Given the description of an element on the screen output the (x, y) to click on. 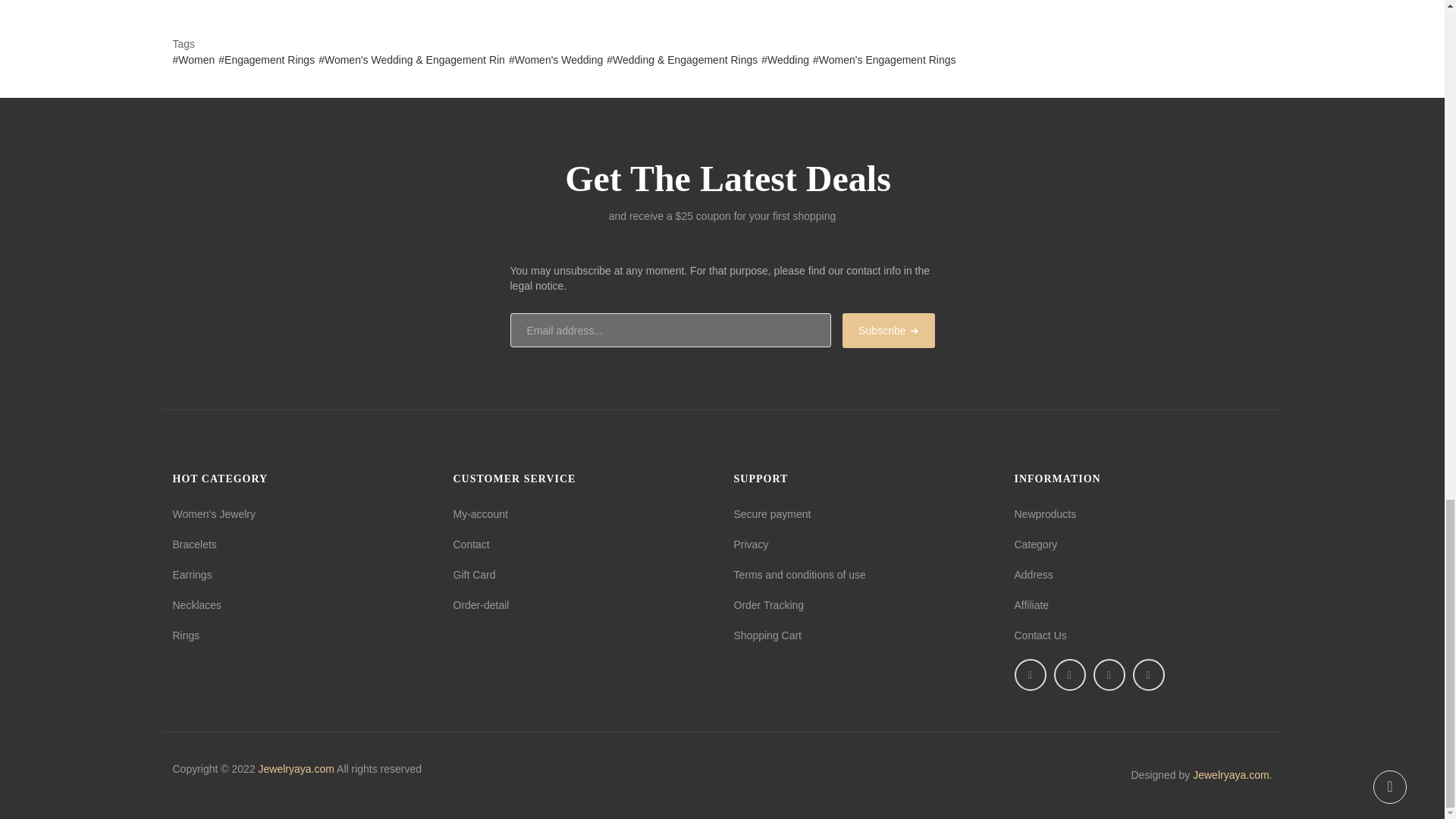
Twitter (1070, 675)
Instagram (1148, 675)
Facebook (1030, 675)
Pinterest (1109, 675)
